Given the description of an element on the screen output the (x, y) to click on. 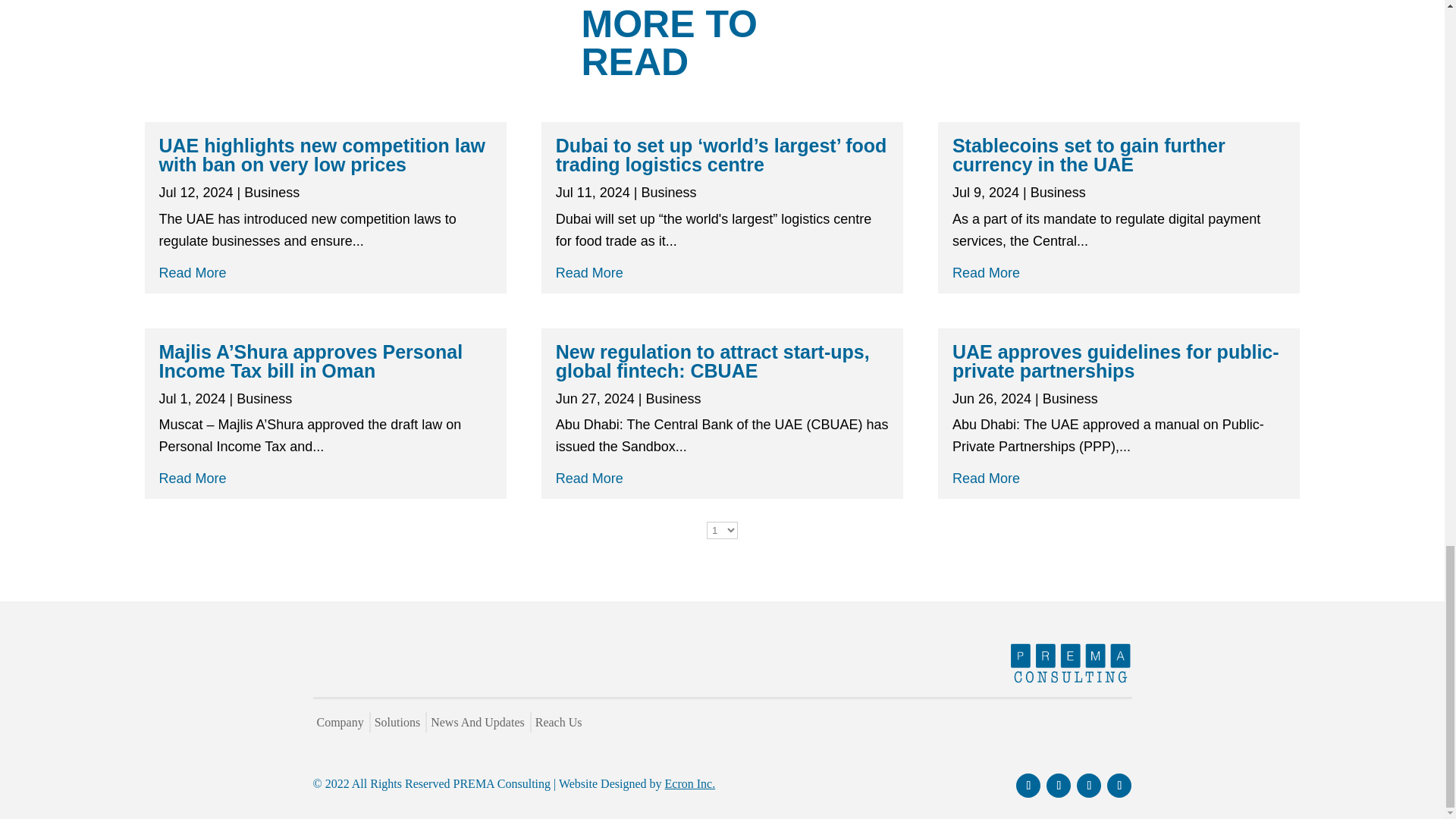
Follow on Instagram (1088, 785)
Follow on Facebook (1028, 785)
Follow on LinkedIn (1058, 785)
Follow on X (1118, 785)
